Given the description of an element on the screen output the (x, y) to click on. 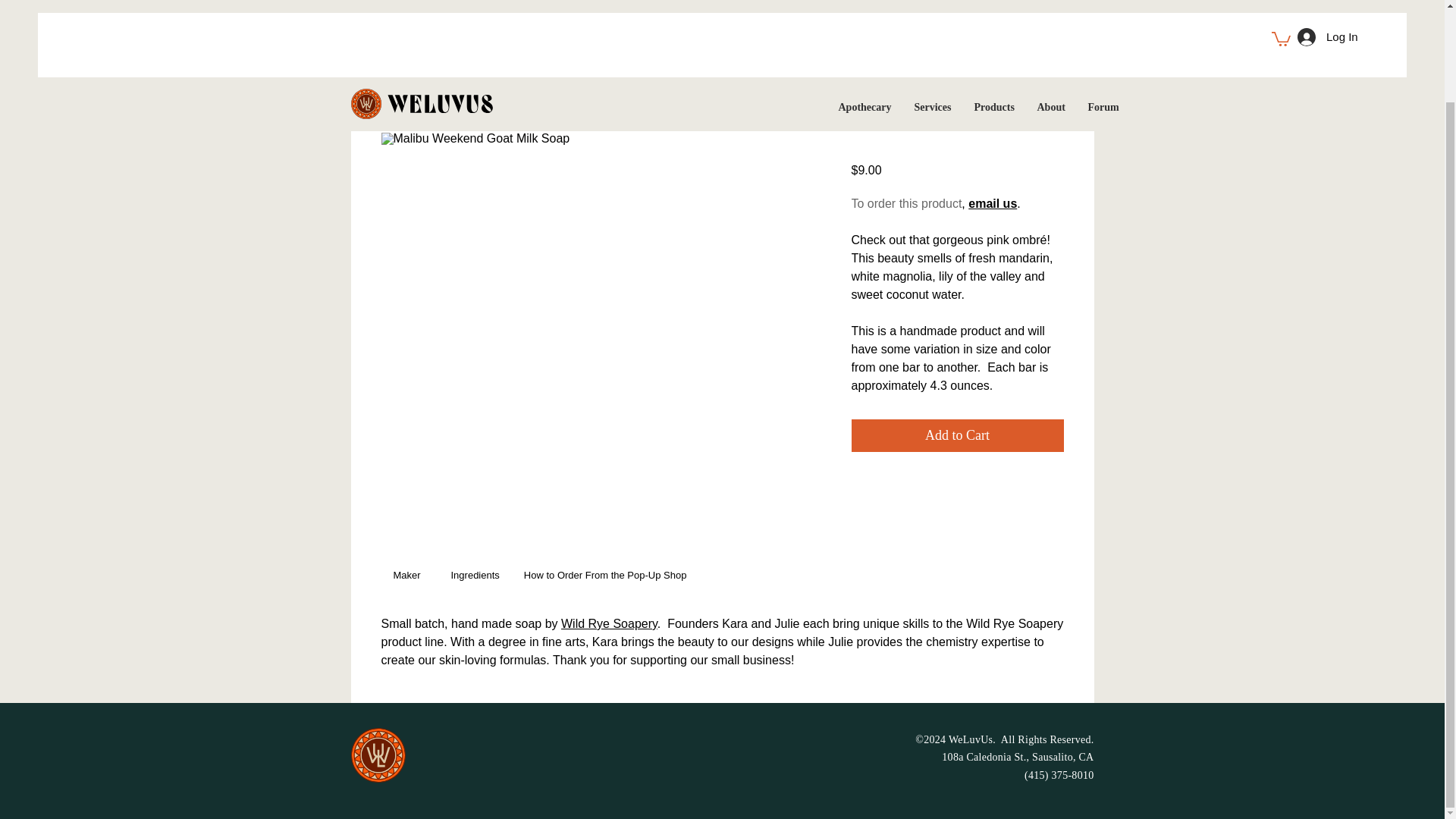
Use right and left arrows to navigate between tabs (605, 576)
About (1050, 6)
Apothecary (864, 6)
email us (992, 203)
Forum (1104, 6)
Use right and left arrows to navigate between tabs (474, 576)
Wild Rye Soapery (609, 623)
Products (994, 6)
Add to Cart (956, 435)
Services (932, 6)
Use right and left arrows to navigate between tabs (408, 576)
